Given the description of an element on the screen output the (x, y) to click on. 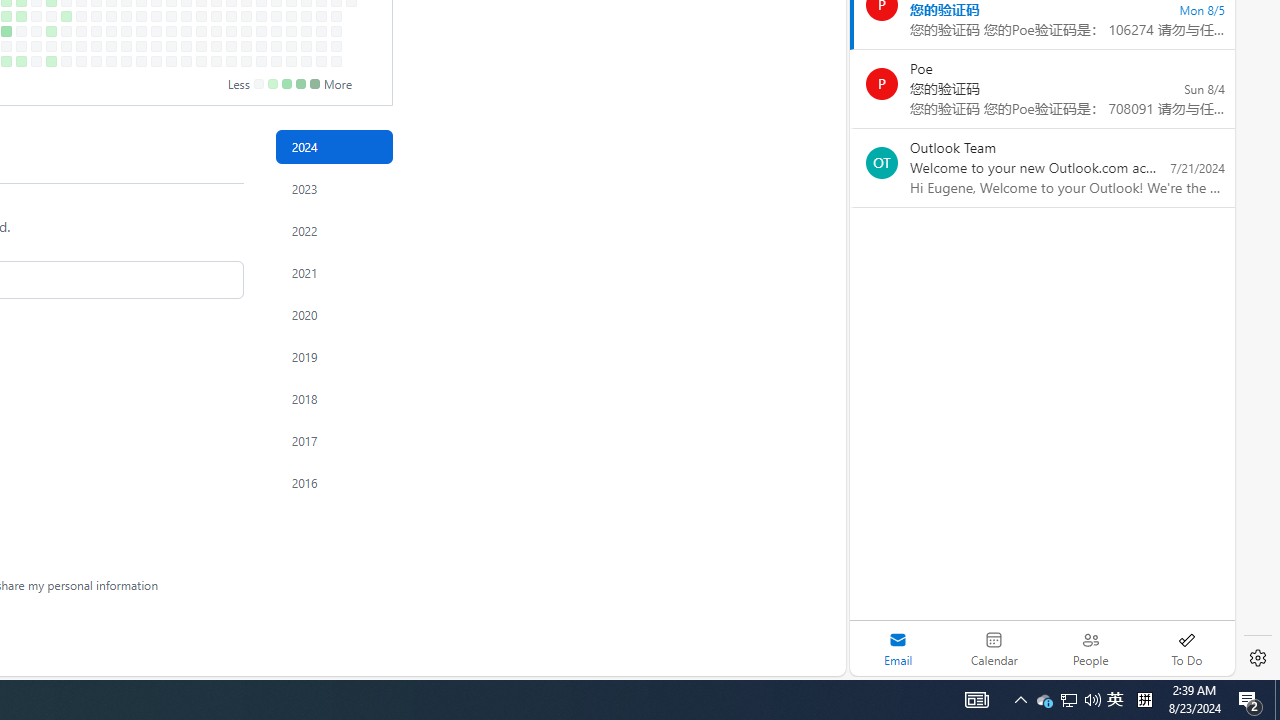
People (1090, 648)
Events-Banner-Ad.jpg (212, 386)
ACCEPT (268, 642)
Settings (1258, 658)
Events-Banner-Ad.jpg (212, 386)
Calendar. Date today is 22 (994, 648)
Cookie settings (155, 642)
Selected mail module (898, 648)
To Do (1186, 648)
